Given the description of an element on the screen output the (x, y) to click on. 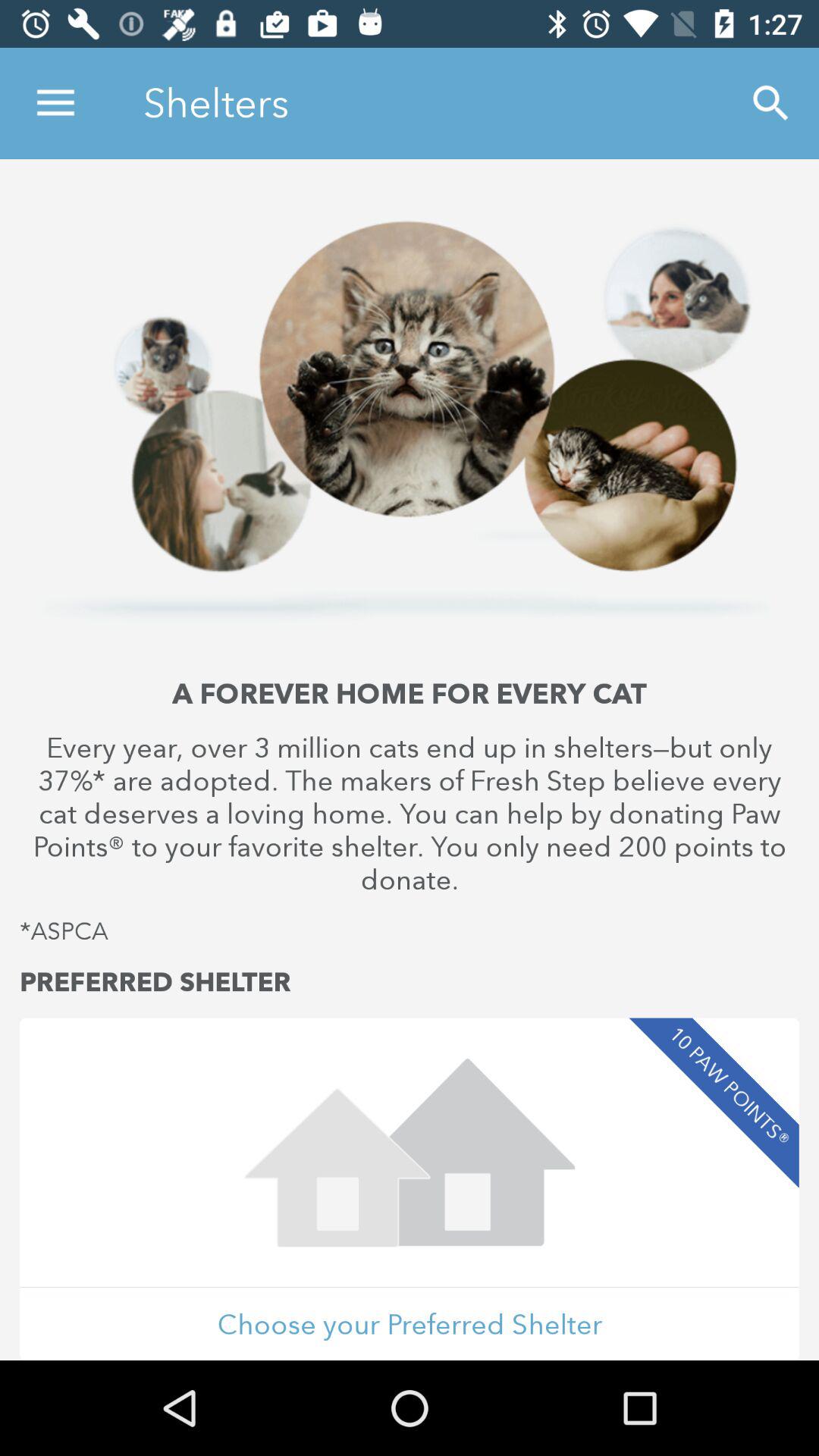
choose the icon next to the shelters icon (771, 103)
